Given the description of an element on the screen output the (x, y) to click on. 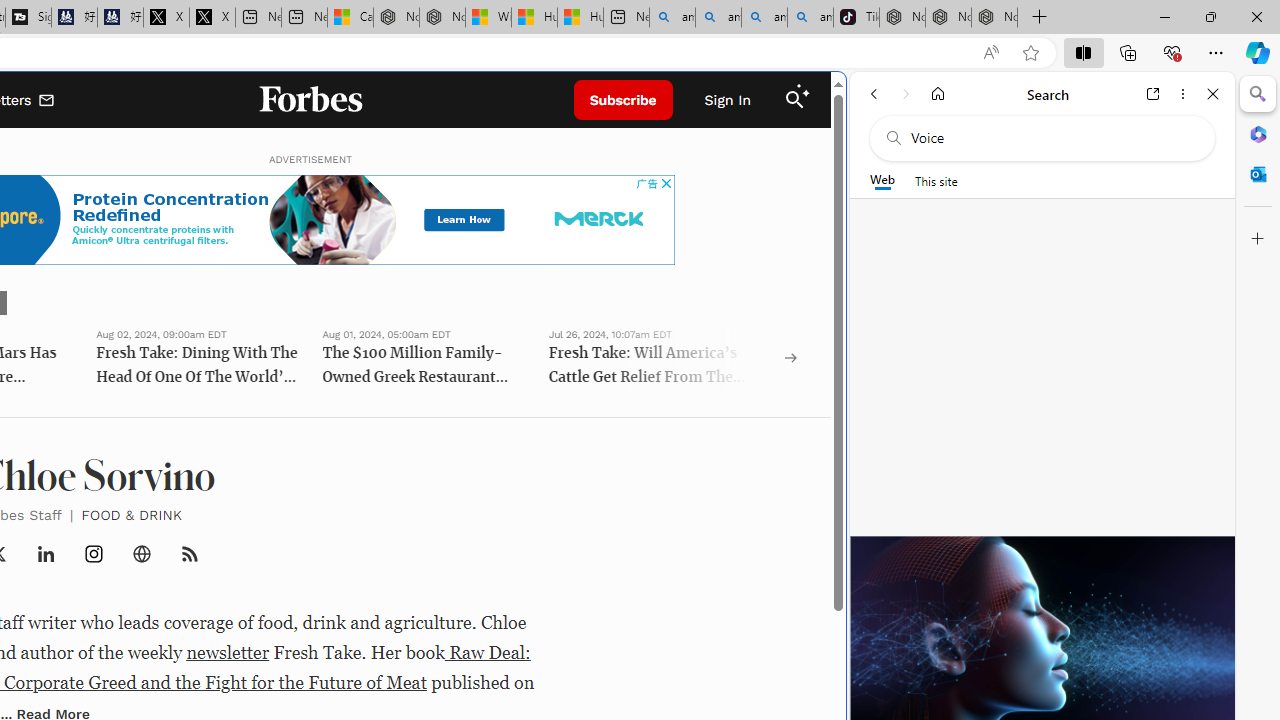
Nordace - Best Sellers (902, 17)
This site scope (936, 180)
Class: search_svg__fs-icon search_svg__fs-icon--search (794, 99)
Class: envelope_svg__fs-icon envelope_svg__fs-icon--envelope (47, 102)
More options (1182, 93)
Search the web (1051, 137)
Class: VGJkz (190, 553)
